Given the description of an element on the screen output the (x, y) to click on. 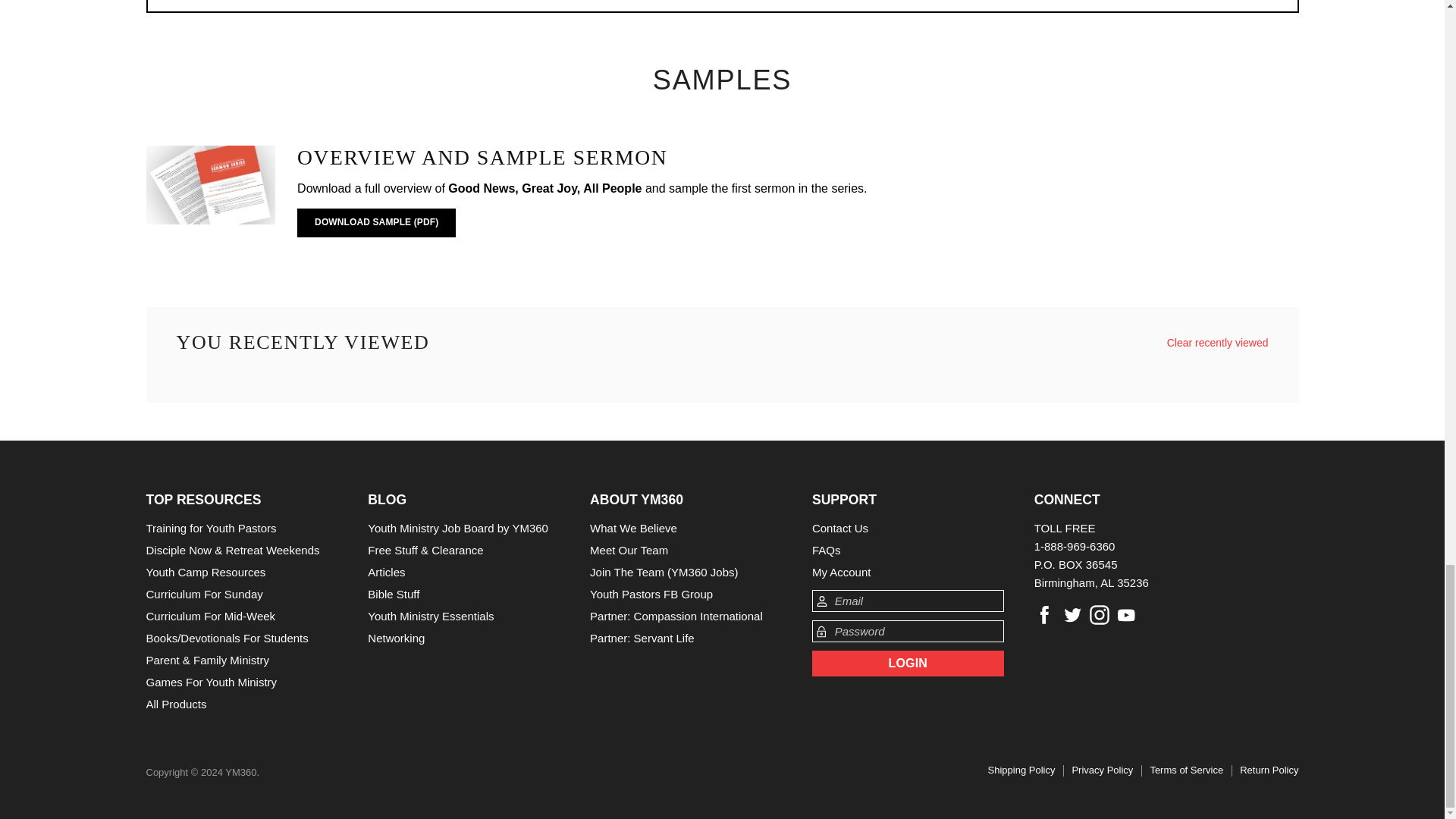
Twitter (1072, 614)
Youtube (1126, 614)
Login (908, 662)
Instagram (1099, 614)
Facebook (1044, 614)
